Given the description of an element on the screen output the (x, y) to click on. 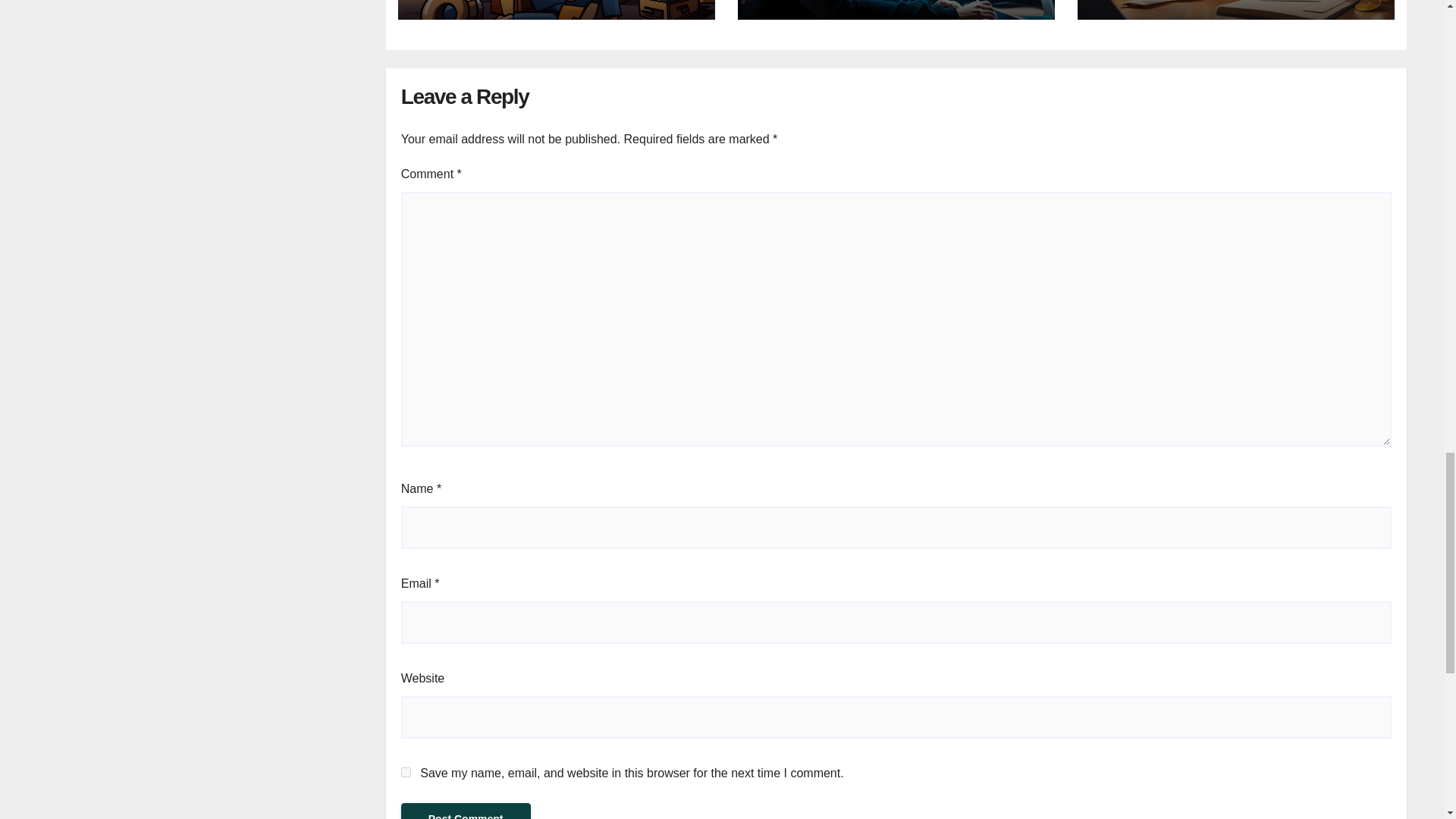
Post Comment (466, 811)
yes (405, 772)
